Given the description of an element on the screen output the (x, y) to click on. 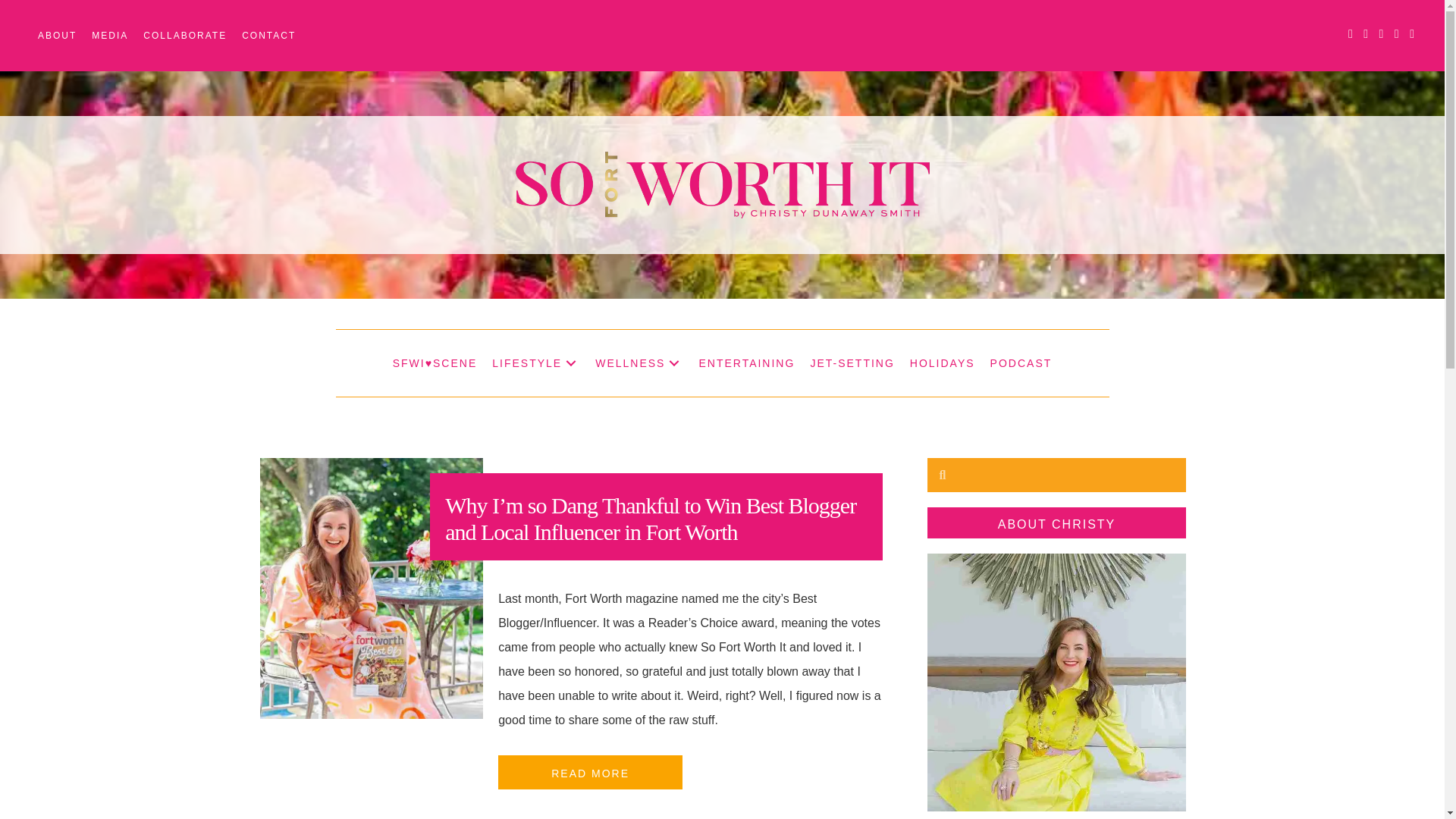
HOLIDAYS (942, 362)
COLLABORATE (184, 35)
READ MORE (589, 773)
PODCAST (1020, 362)
ABOUT (57, 35)
Search (1064, 474)
ENTERTAINING (746, 362)
CONTACT (268, 35)
WELLNESS (639, 362)
